Given the description of an element on the screen output the (x, y) to click on. 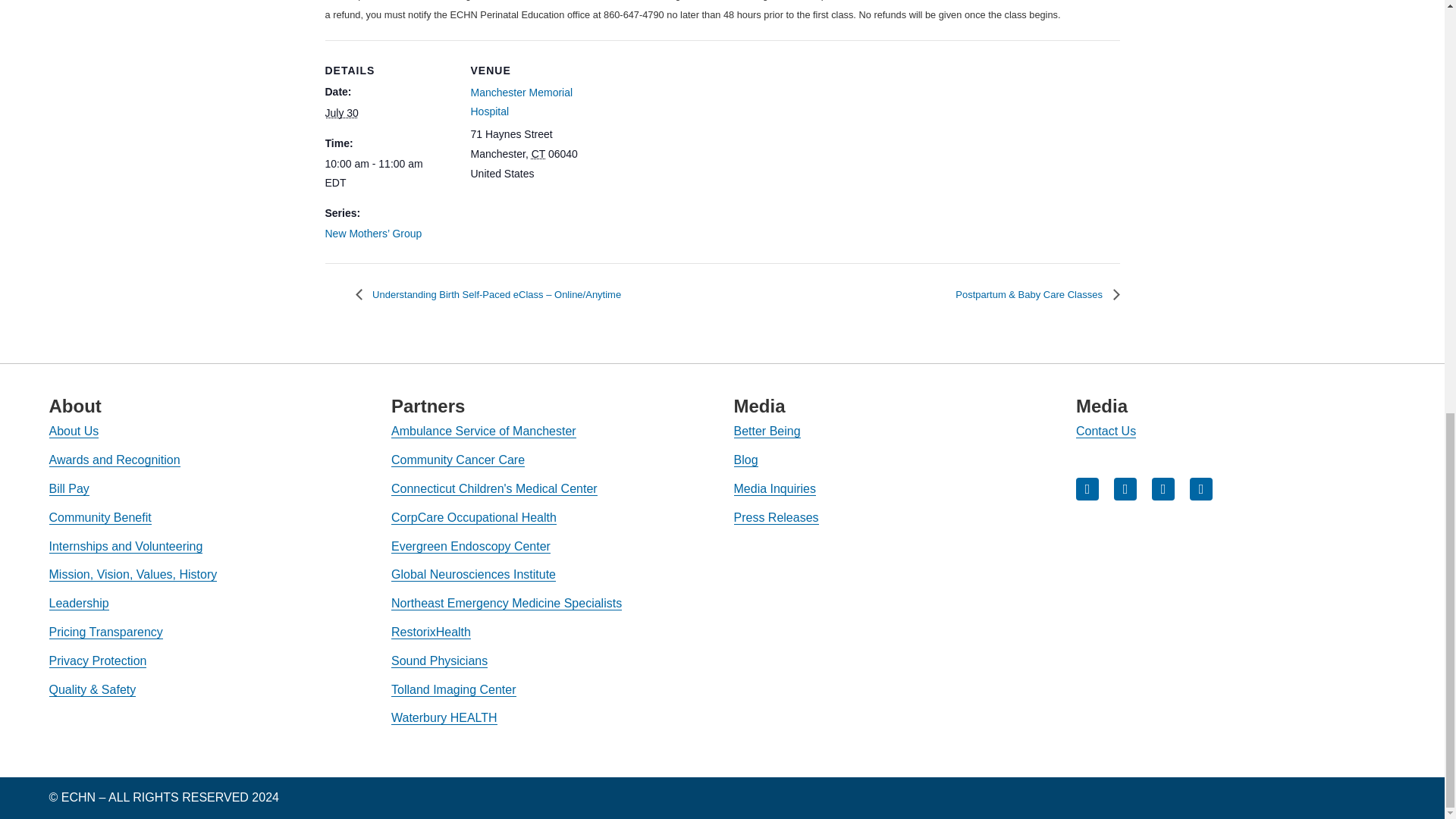
2024-07-30 (387, 173)
2024-07-30 (341, 112)
Connecticut (537, 153)
